Given the description of an element on the screen output the (x, y) to click on. 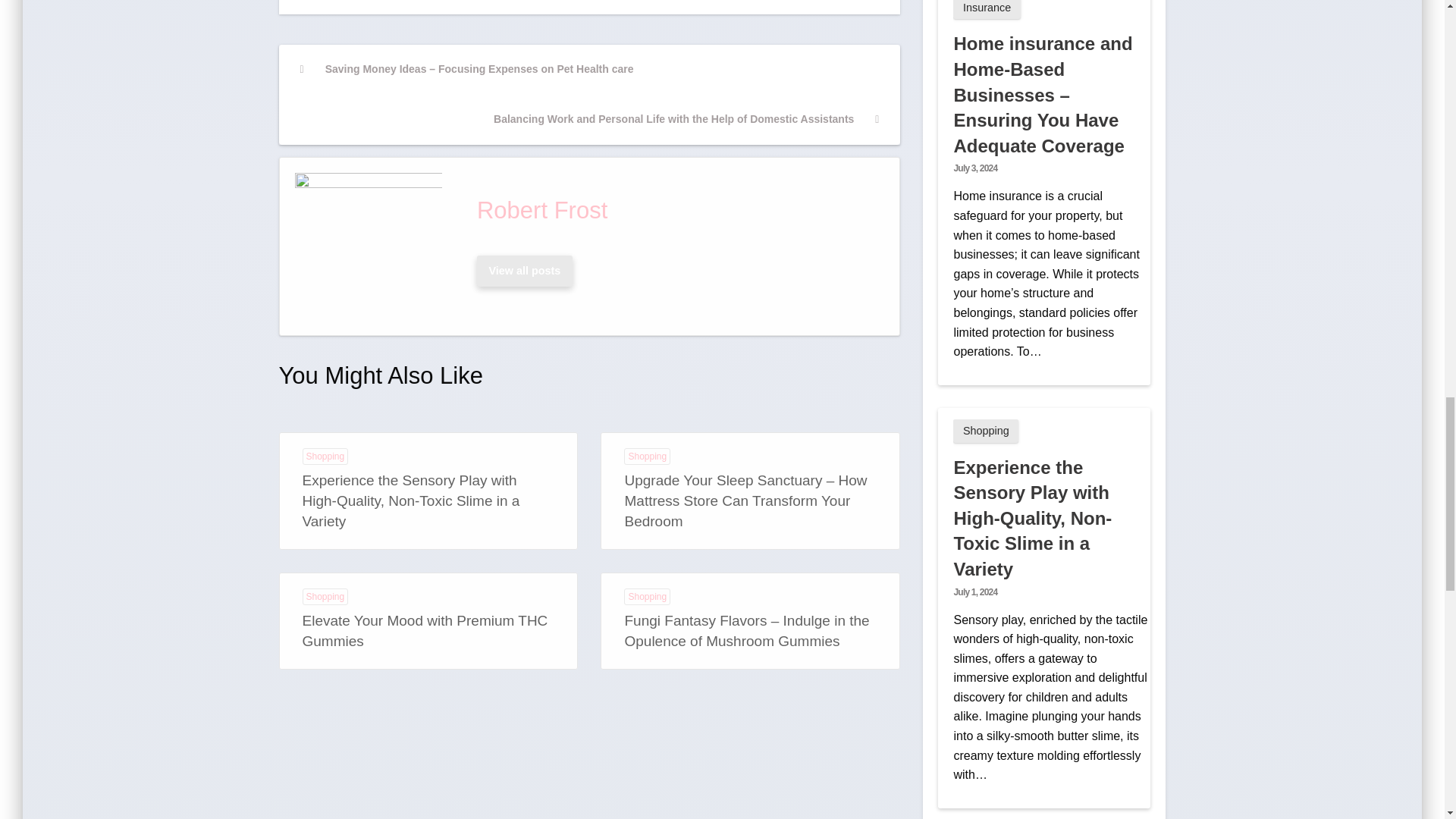
Shopping (324, 596)
Shopping (646, 456)
Elevate Your Mood with Premium THC Gummies (424, 630)
View all posts (523, 270)
Robert Frost (523, 270)
Robert Frost (674, 210)
Robert Frost (674, 210)
Shopping (324, 456)
Shopping (646, 596)
View all posts (524, 270)
